Given the description of an element on the screen output the (x, y) to click on. 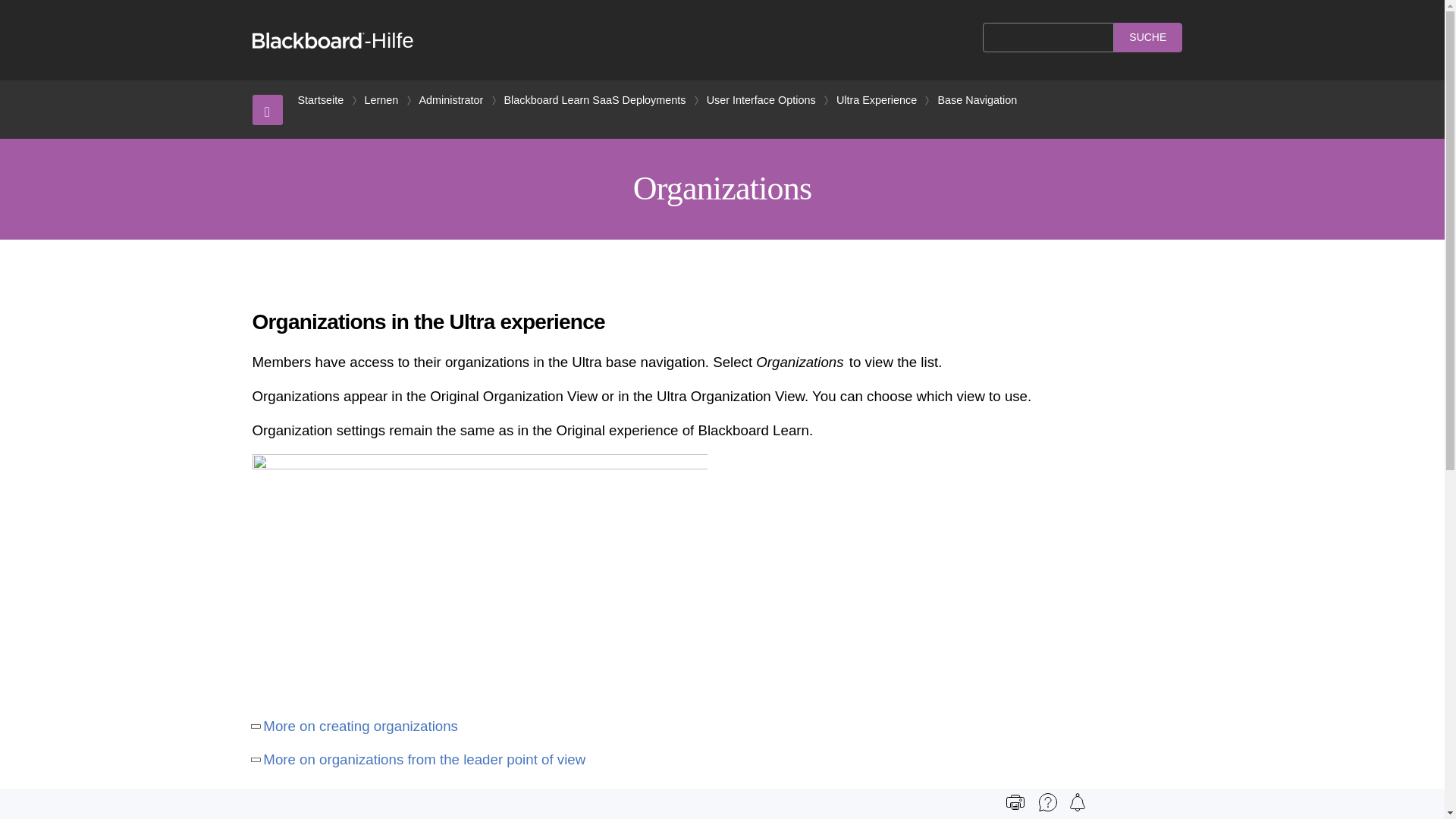
Administrator (451, 99)
Ultra Experience (876, 99)
Lernen (380, 99)
Suche (1147, 37)
Suche (1147, 37)
User Interface Options (760, 99)
Startseite (320, 99)
Blackboard Learn SaaS Deployments (594, 99)
Base Navigation (976, 99)
Blackboard-Hilfe (332, 40)
